Given the description of an element on the screen output the (x, y) to click on. 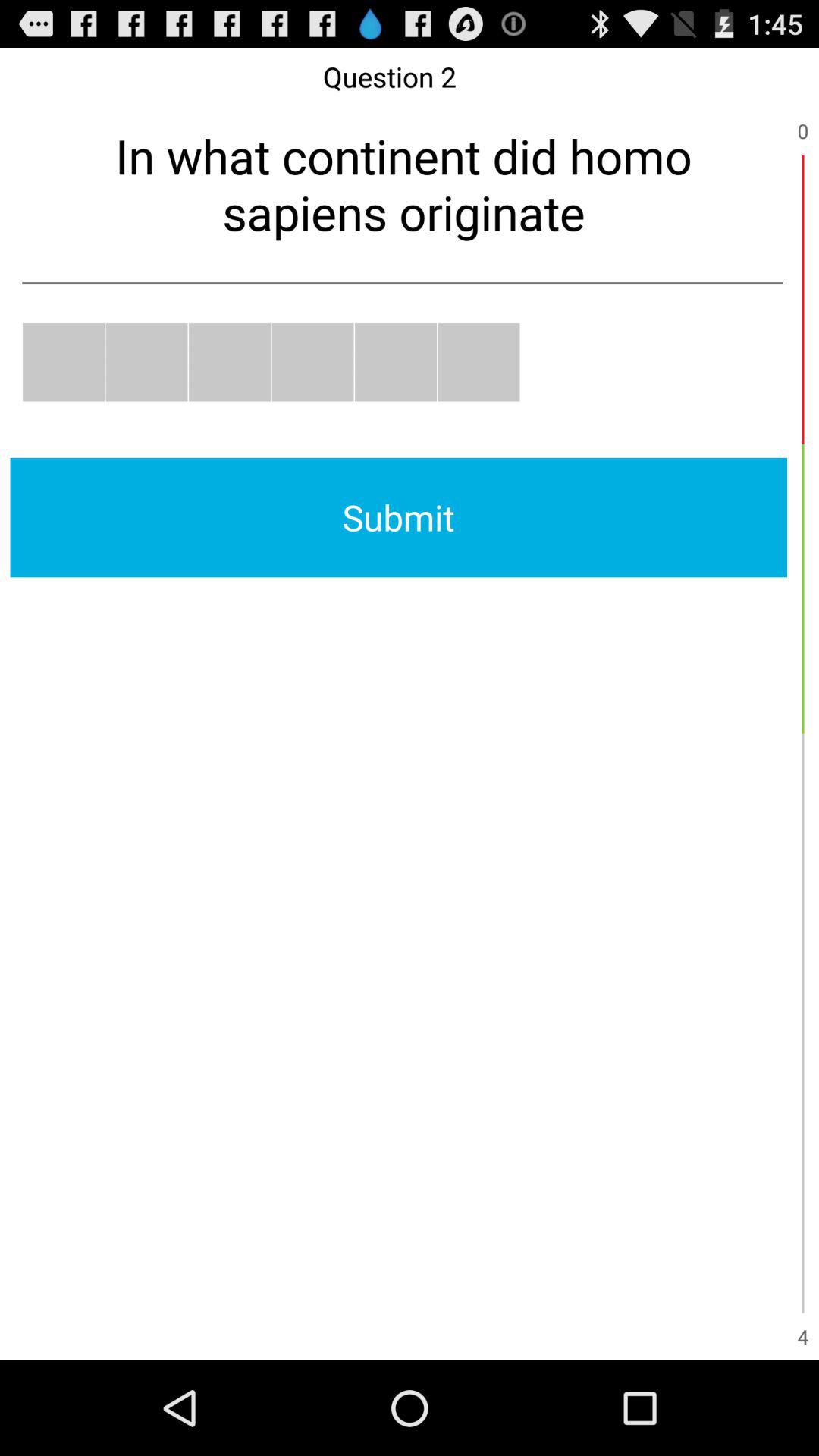
choose second option (146, 362)
